Given the description of an element on the screen output the (x, y) to click on. 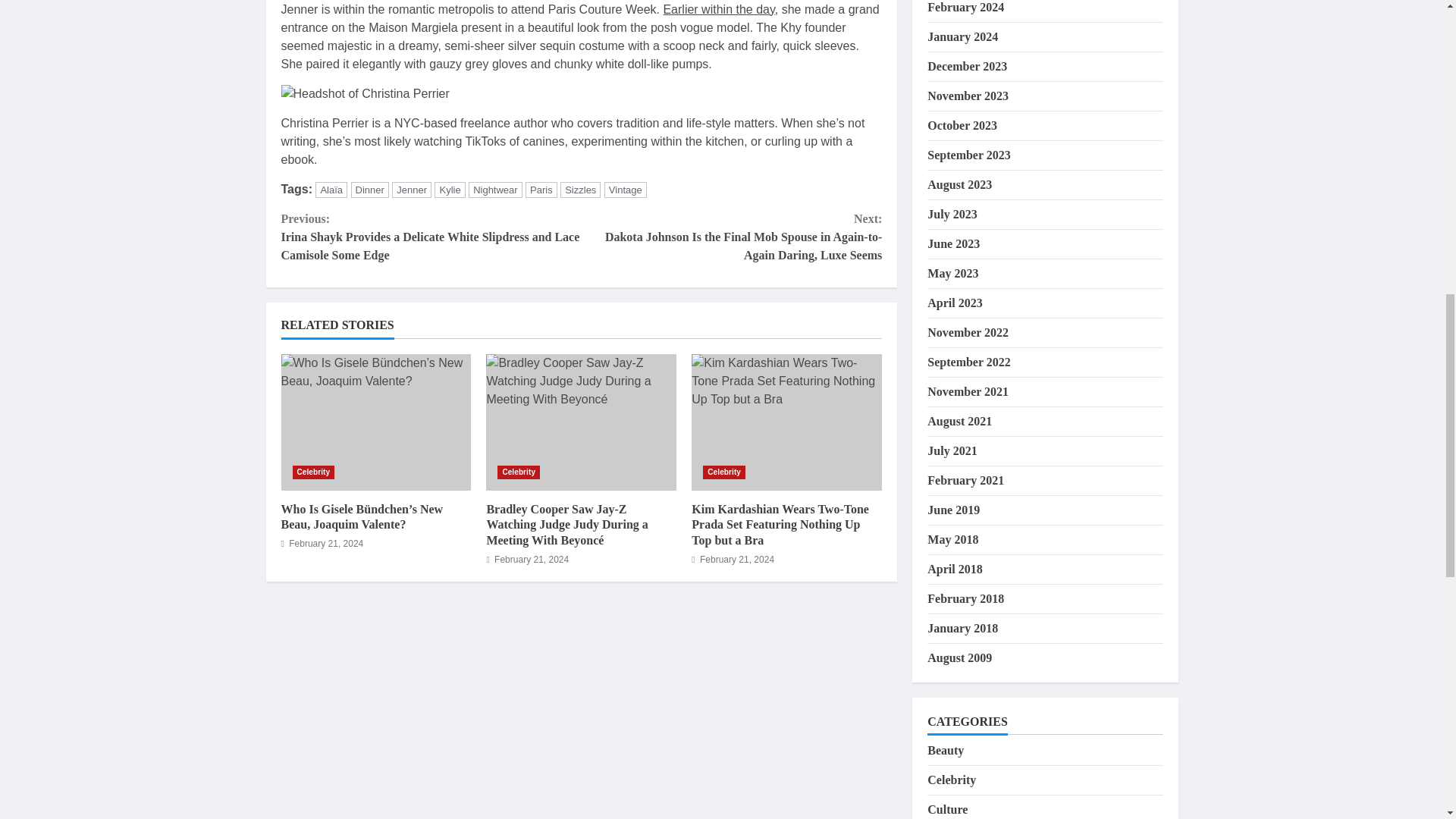
Jenner (410, 189)
Dinner (369, 189)
Paris (541, 189)
Vintage (625, 189)
Sizzles (579, 189)
Celebrity (518, 472)
Headshot of Christina Perrier (364, 94)
